Given the description of an element on the screen output the (x, y) to click on. 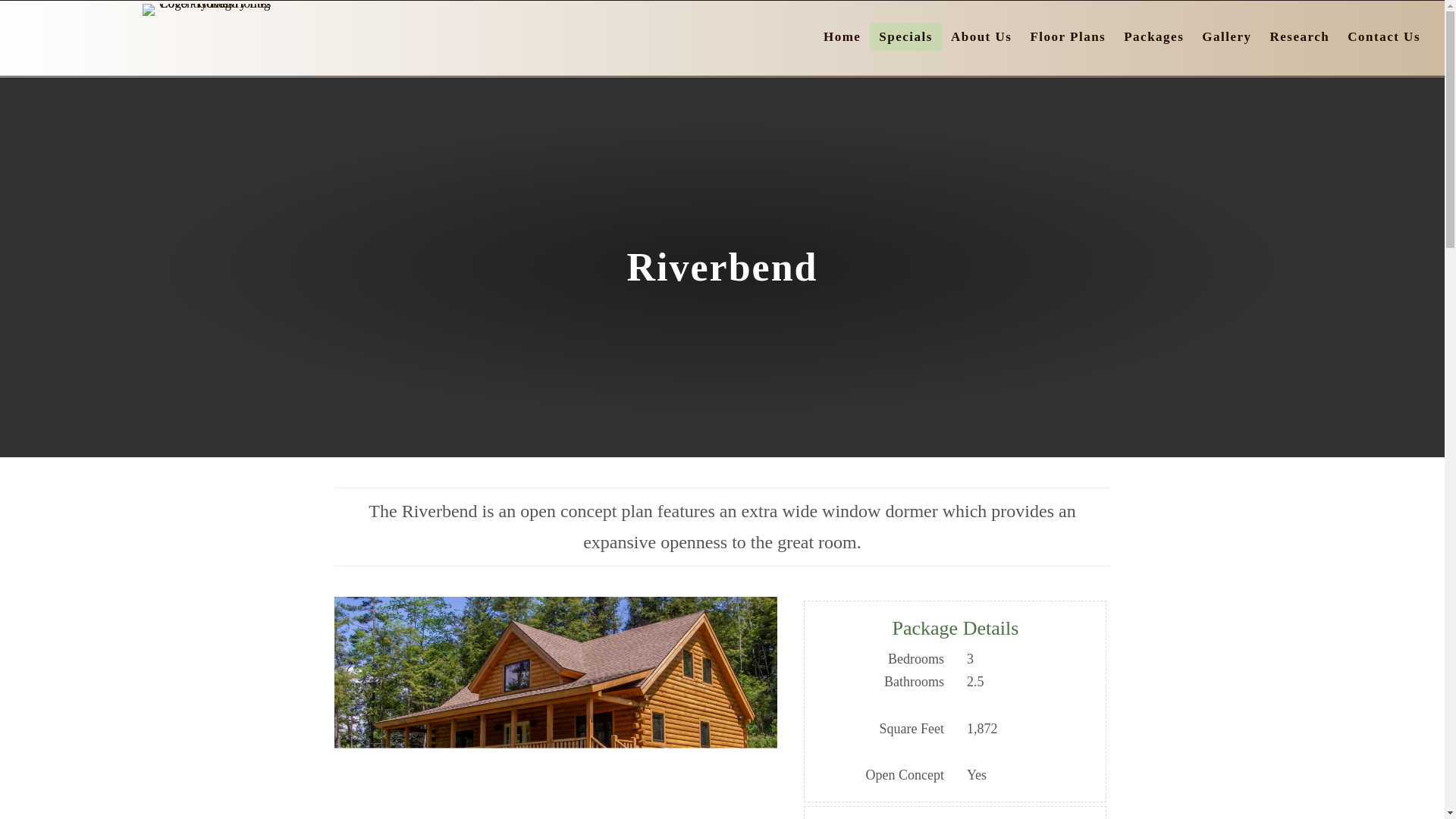
Floor Plans (1067, 36)
Home (841, 36)
Gallery (1226, 36)
Coventry Log Homes Logo (208, 9)
Exterior  03b scaled (555, 705)
About Us (982, 36)
Packages (1153, 36)
Specials (905, 36)
Research (1299, 36)
